Given the description of an element on the screen output the (x, y) to click on. 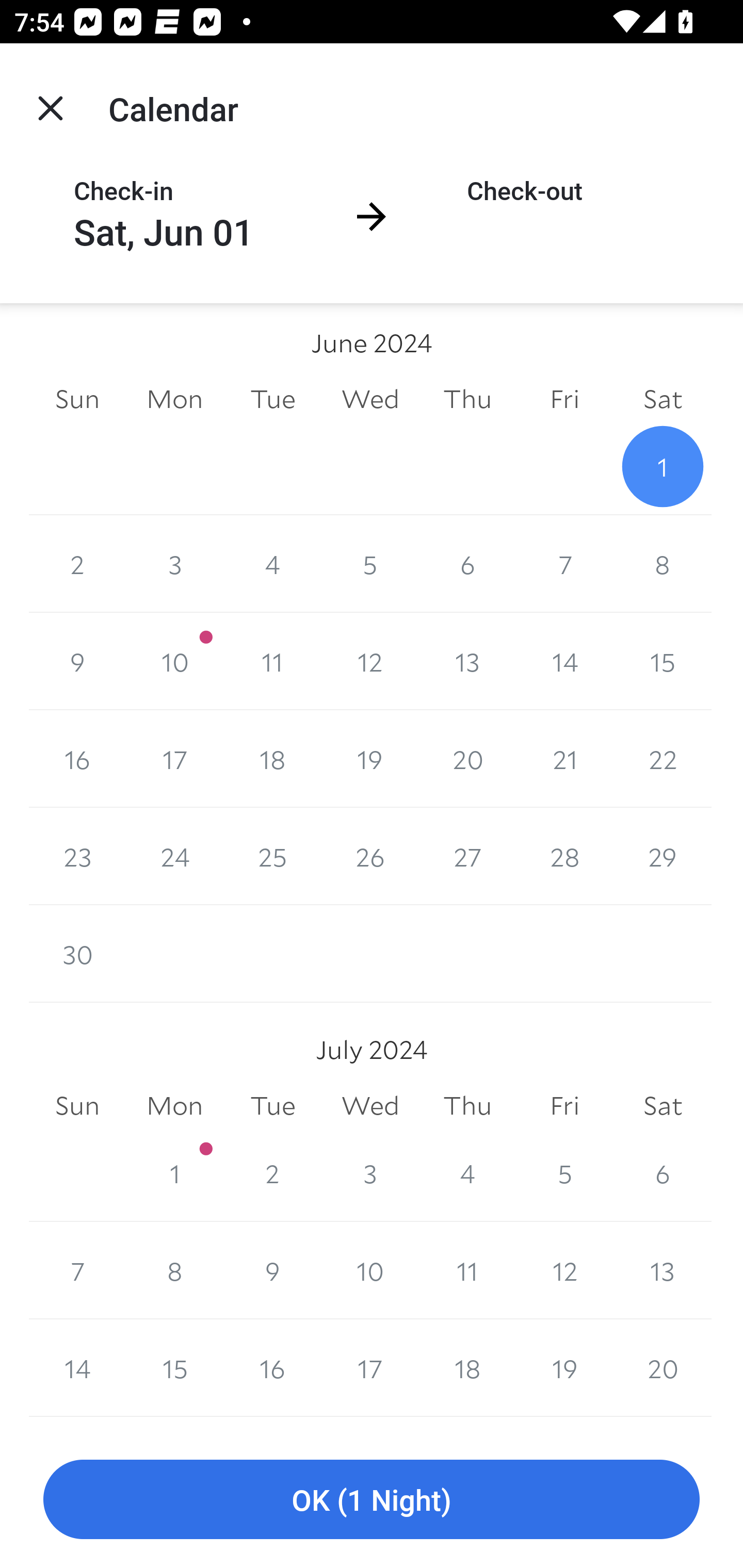
Sun (77, 399)
Mon (174, 399)
Tue (272, 399)
Wed (370, 399)
Thu (467, 399)
Fri (564, 399)
Sat (662, 399)
1 1 June 2024 (662, 466)
2 2 June 2024 (77, 564)
3 3 June 2024 (174, 564)
4 4 June 2024 (272, 564)
5 5 June 2024 (370, 564)
6 6 June 2024 (467, 564)
7 7 June 2024 (564, 564)
8 8 June 2024 (662, 564)
9 9 June 2024 (77, 661)
10 10 June 2024 (174, 661)
11 11 June 2024 (272, 661)
12 12 June 2024 (370, 661)
13 13 June 2024 (467, 661)
14 14 June 2024 (564, 661)
15 15 June 2024 (662, 661)
16 16 June 2024 (77, 758)
17 17 June 2024 (174, 758)
18 18 June 2024 (272, 758)
19 19 June 2024 (370, 758)
20 20 June 2024 (467, 758)
21 21 June 2024 (564, 758)
22 22 June 2024 (662, 758)
23 23 June 2024 (77, 855)
24 24 June 2024 (174, 855)
25 25 June 2024 (272, 855)
26 26 June 2024 (370, 855)
27 27 June 2024 (467, 855)
28 28 June 2024 (564, 855)
29 29 June 2024 (662, 855)
30 30 June 2024 (77, 952)
Sun (77, 1105)
Mon (174, 1105)
Tue (272, 1105)
Wed (370, 1105)
Thu (467, 1105)
Fri (564, 1105)
Sat (662, 1105)
1 1 July 2024 (174, 1172)
2 2 July 2024 (272, 1172)
3 3 July 2024 (370, 1172)
4 4 July 2024 (467, 1172)
5 5 July 2024 (564, 1172)
